Given the description of an element on the screen output the (x, y) to click on. 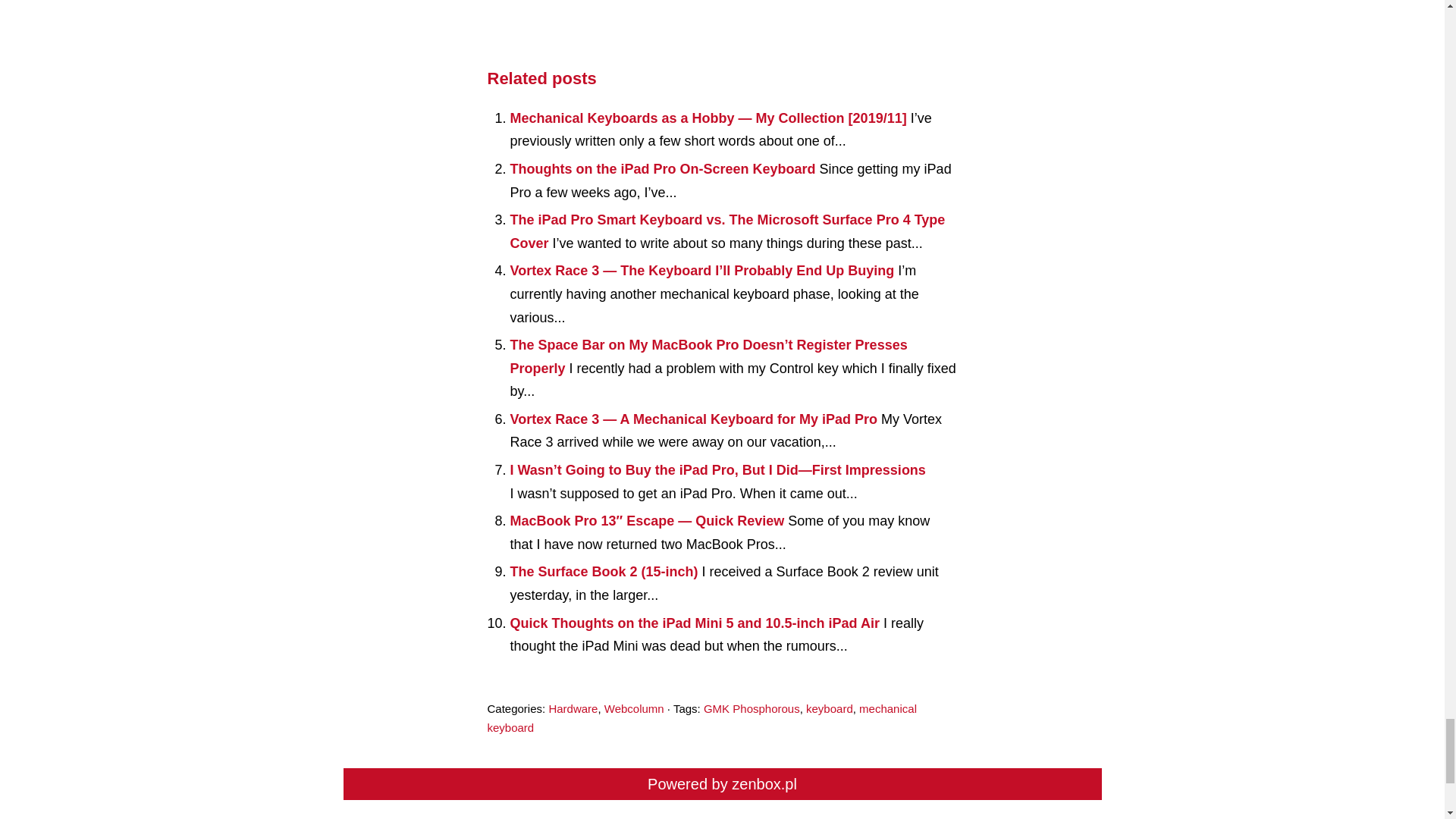
Thoughts on the iPad Pro On-Screen Keyboard (663, 168)
